Given the description of an element on the screen output the (x, y) to click on. 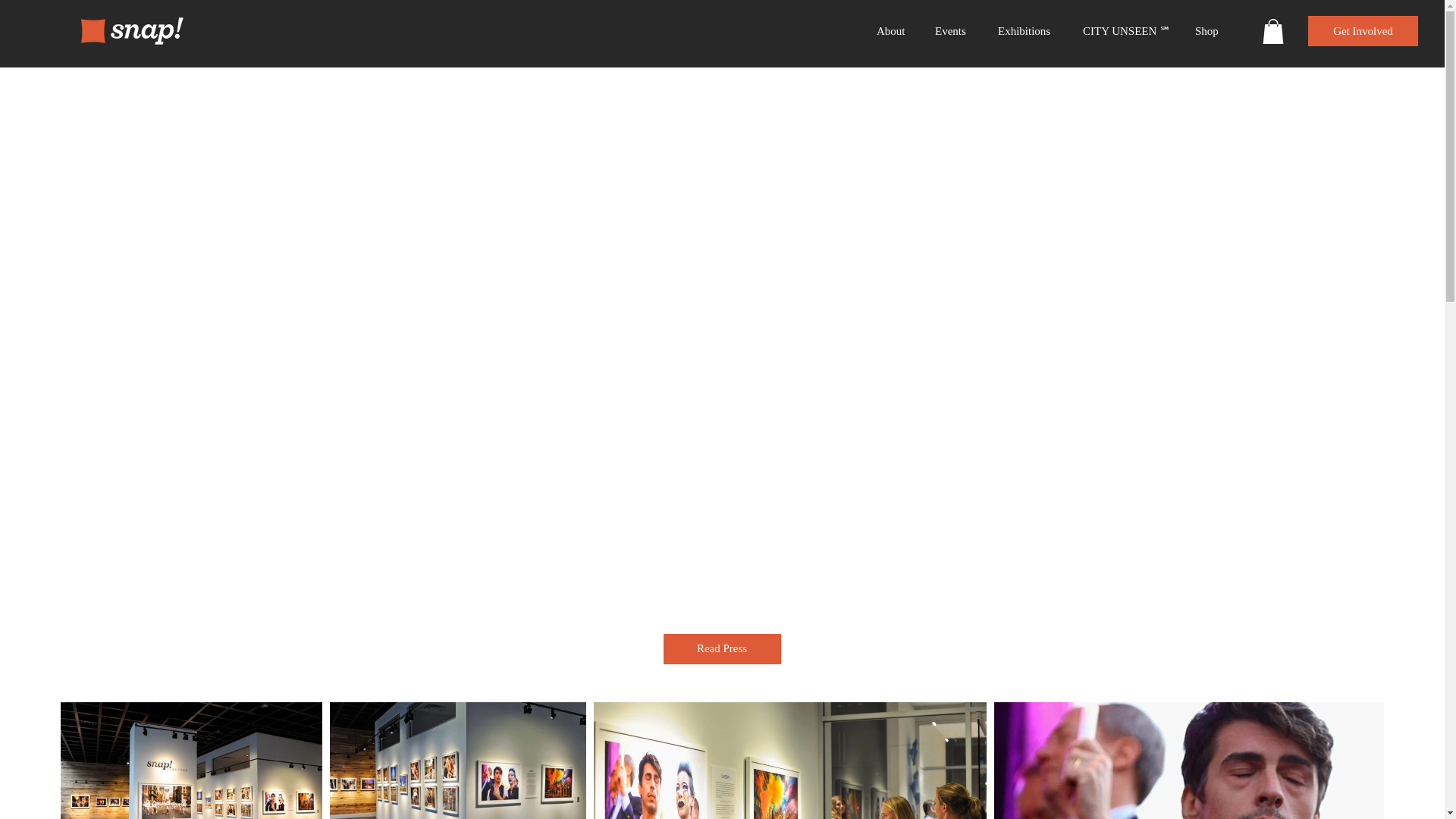
Shop (1209, 30)
Get Involved (1362, 30)
Read Press (721, 648)
